Given the description of an element on the screen output the (x, y) to click on. 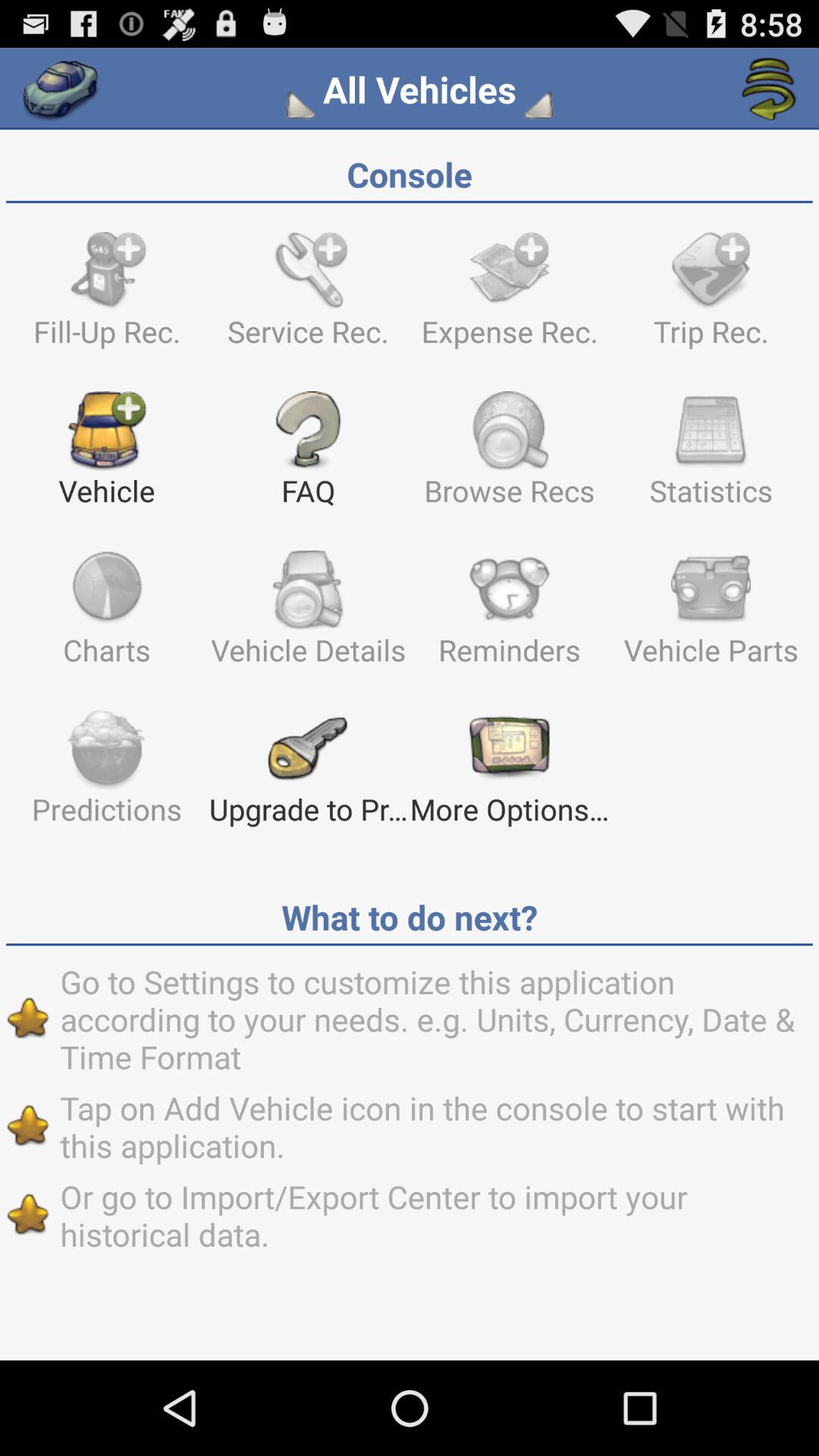
select the item to the left of vehicle details icon (106, 614)
